Given the description of an element on the screen output the (x, y) to click on. 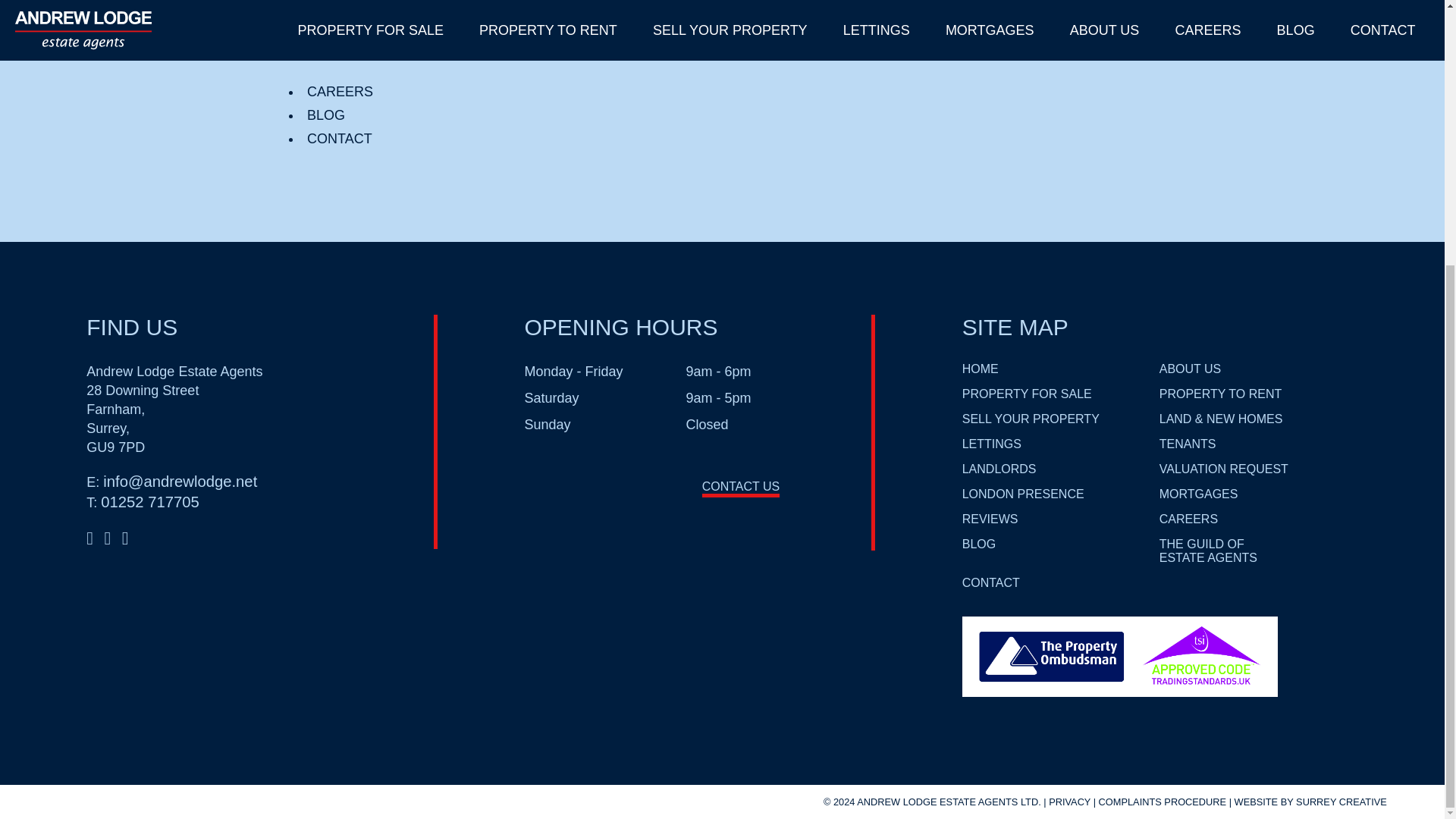
ABOUT US (1189, 368)
BLOG (326, 114)
REVIEWS (344, 52)
PROPERTY TO RENT (1220, 393)
HOME (980, 368)
SELL YOUR PROPERTY (1030, 418)
CAREERS (339, 91)
LONDON PRESENCE (386, 27)
01252 717705 (149, 501)
PROPERTY FOR SALE (1027, 393)
CONTACT (339, 138)
ABOUT US (342, 10)
CONTACT US (740, 488)
